Given the description of an element on the screen output the (x, y) to click on. 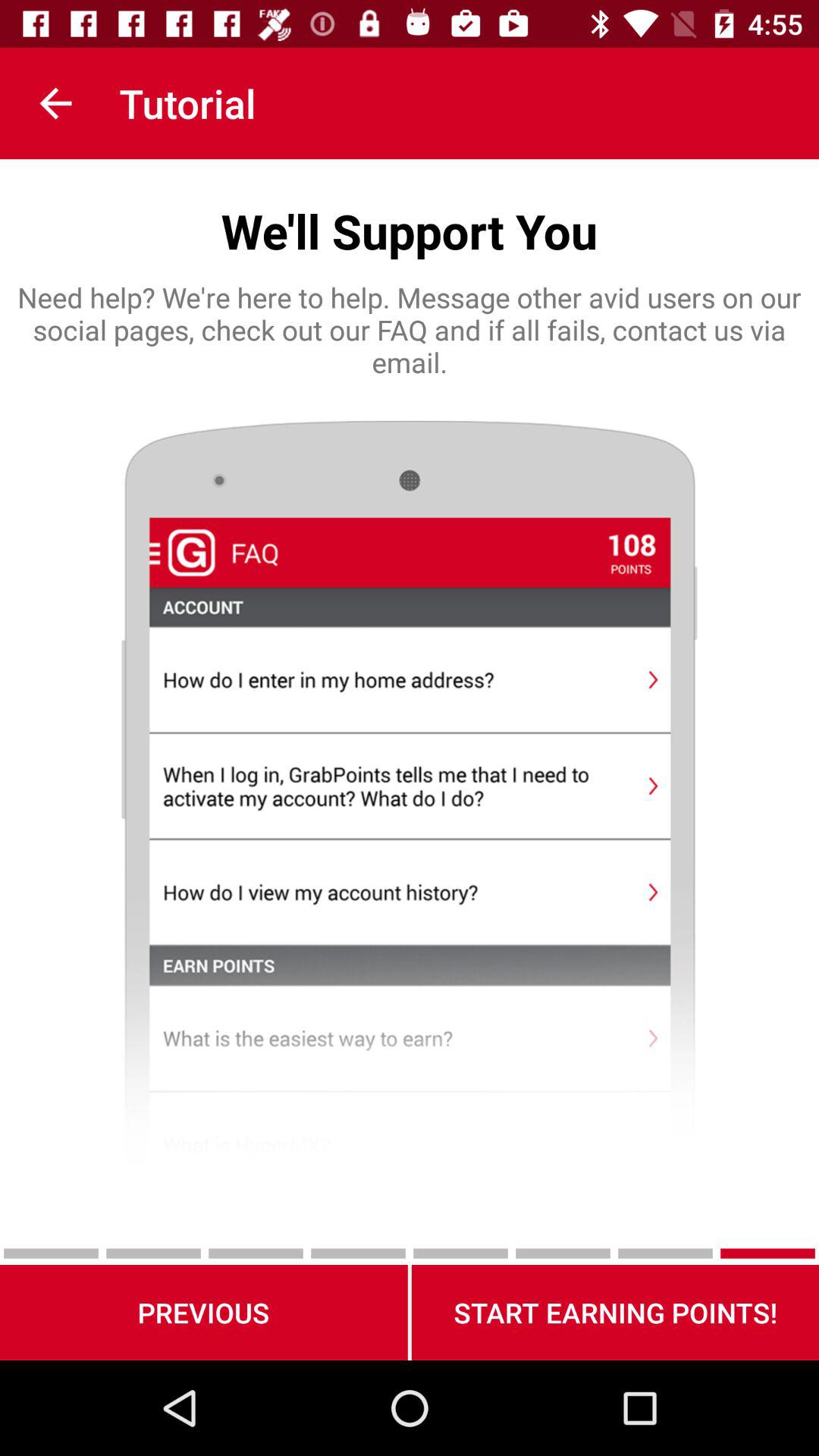
tap the item above the need help we icon (55, 103)
